Given the description of an element on the screen output the (x, y) to click on. 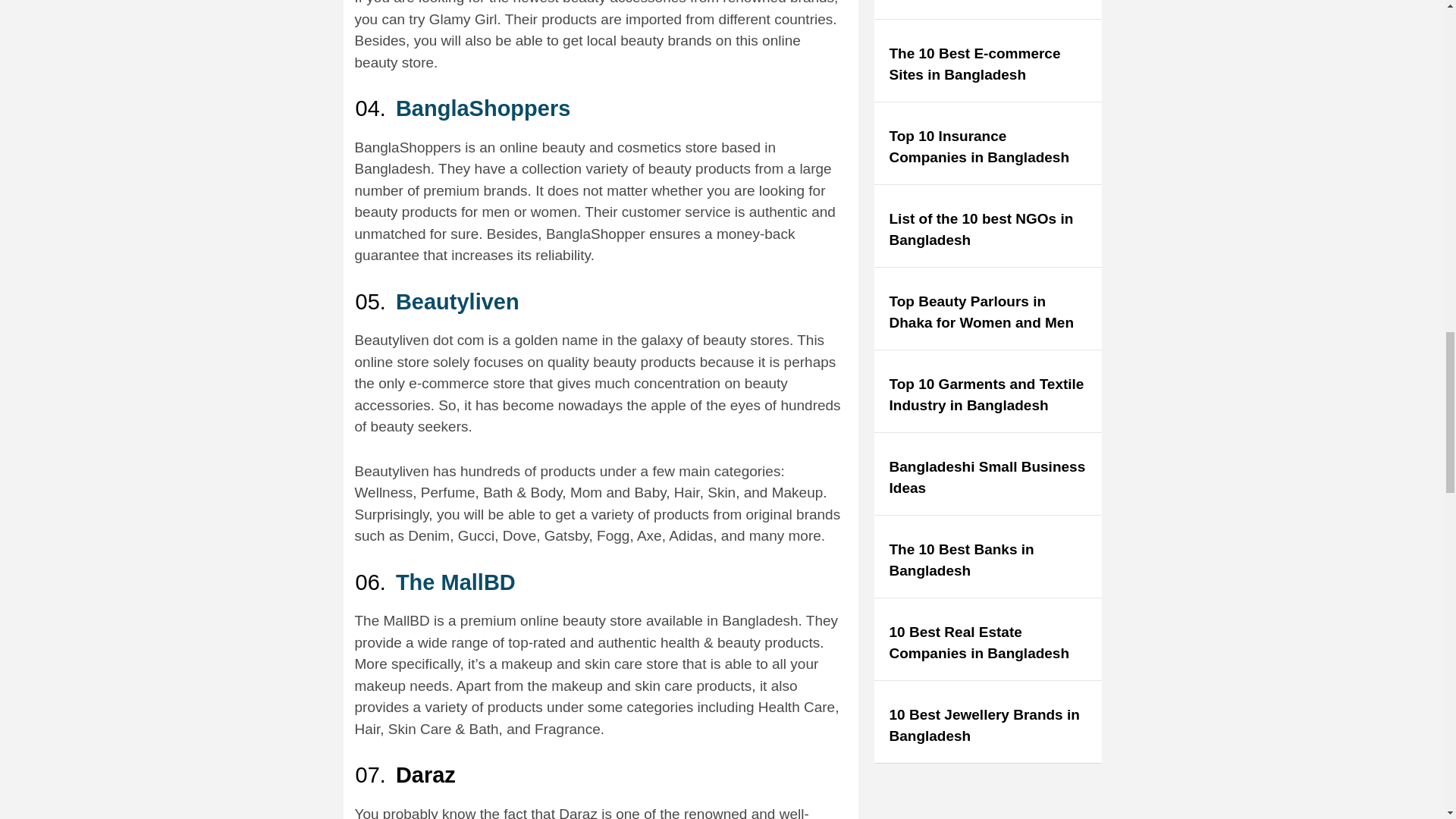
Beautyliven (457, 301)
The MallBD (455, 582)
BanglaShoppers (483, 108)
